Given the description of an element on the screen output the (x, y) to click on. 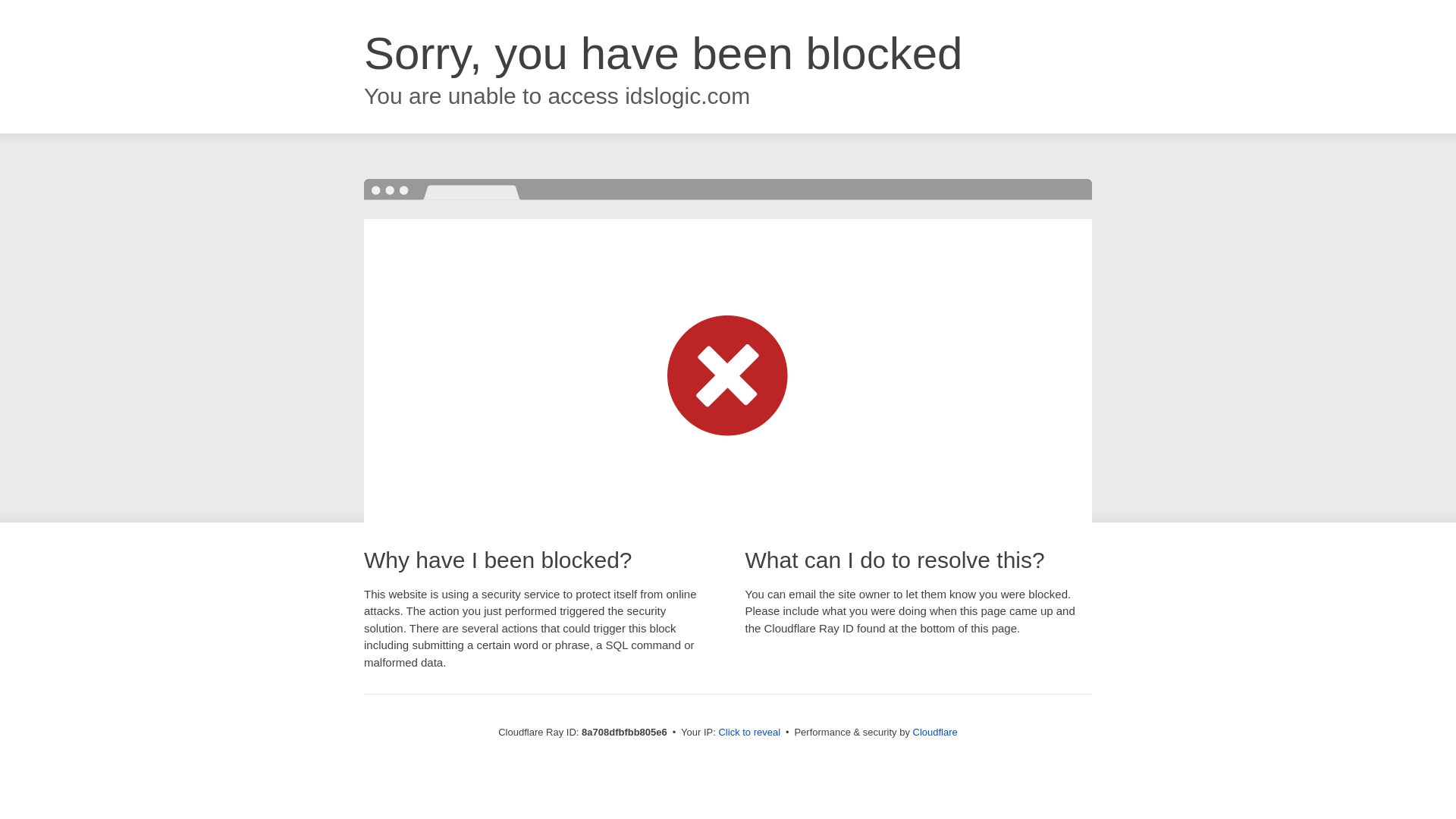
Cloudflare (935, 731)
Click to reveal (748, 732)
